Given the description of an element on the screen output the (x, y) to click on. 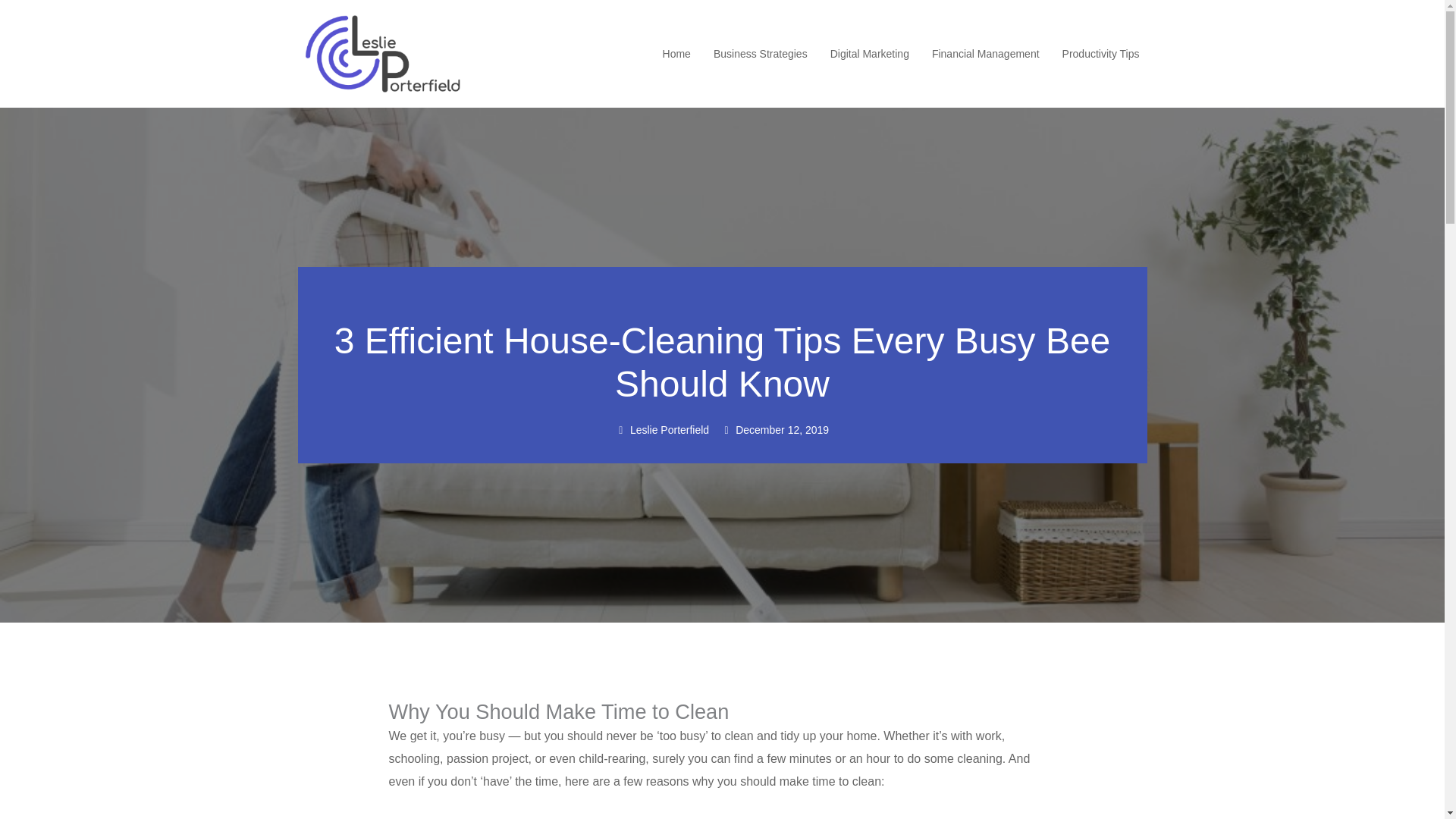
Productivity Tips (1101, 53)
Home (676, 53)
UNCATEGORIZED (722, 295)
December 12, 2019 (774, 430)
Financial Management (985, 53)
Business Strategies (760, 53)
Digital Marketing (868, 53)
Leslie Porterfield (662, 430)
